Given the description of an element on the screen output the (x, y) to click on. 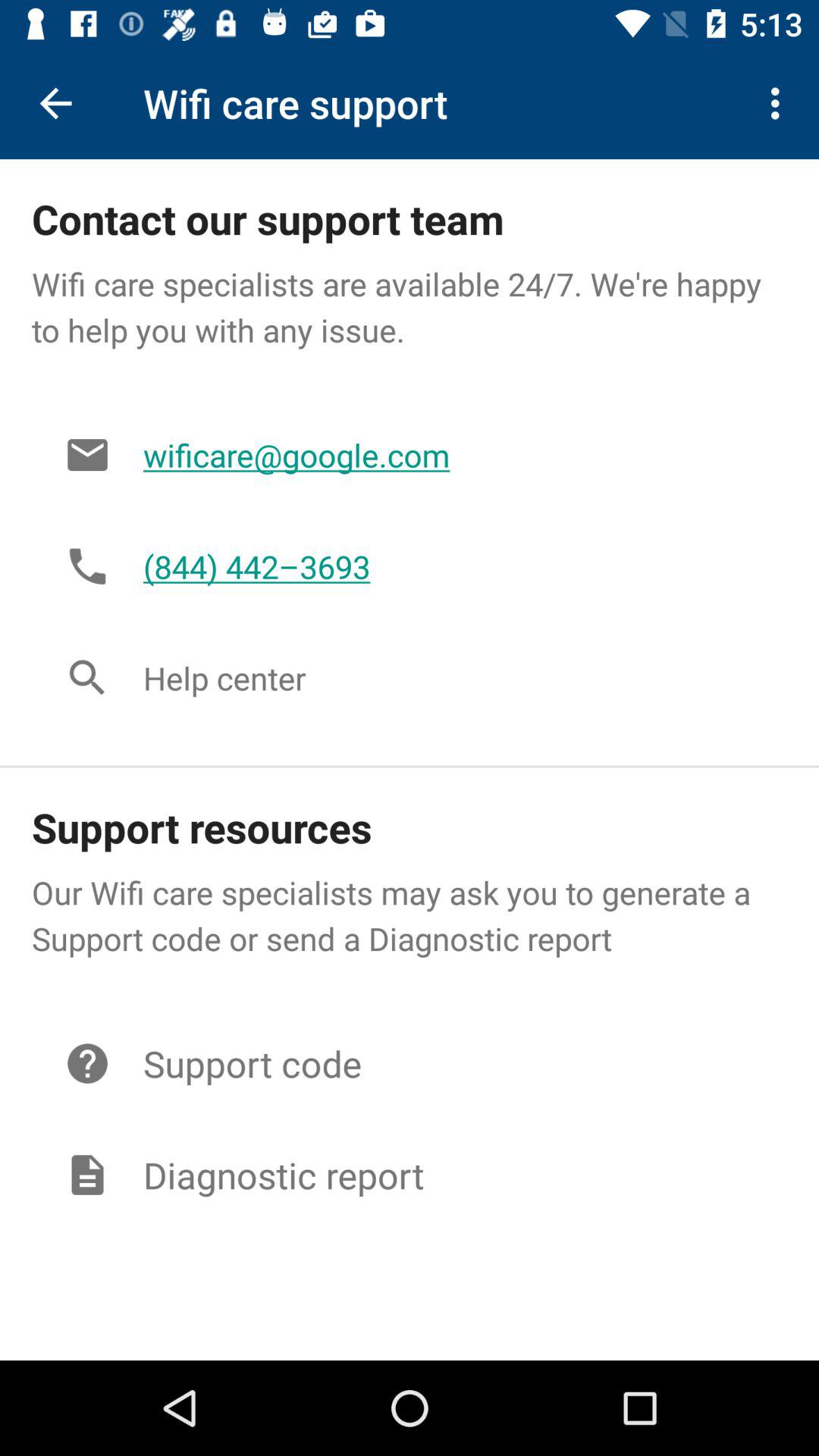
press the item above the wifi care specialists icon (779, 103)
